Given the description of an element on the screen output the (x, y) to click on. 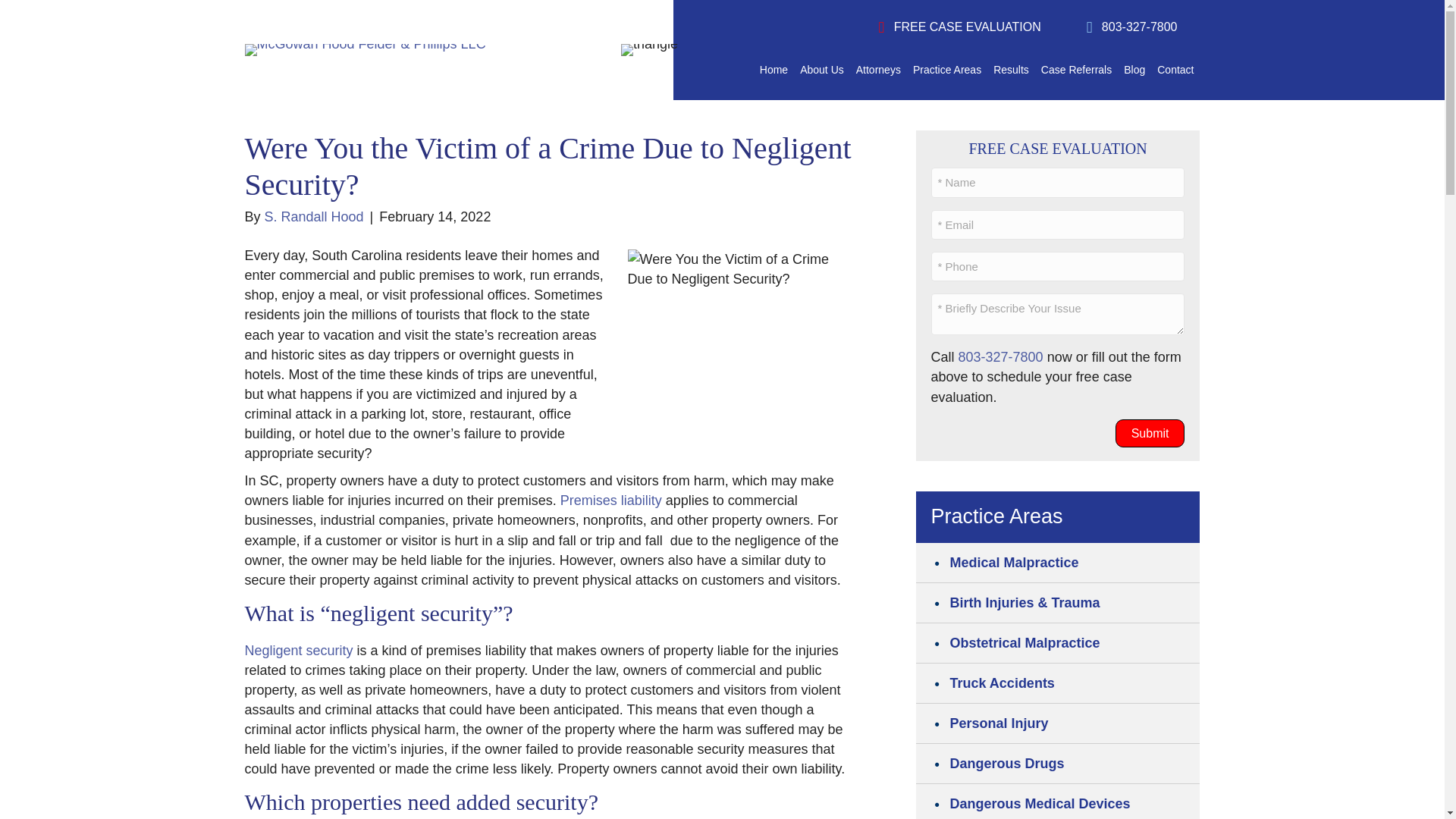
Submit (1150, 433)
triangle (649, 50)
Attorneys (878, 69)
Home (773, 69)
FREE CASE EVALUATION (959, 27)
Practice Areas (947, 69)
803-327-7800 (1131, 27)
About Us (821, 69)
